Given the description of an element on the screen output the (x, y) to click on. 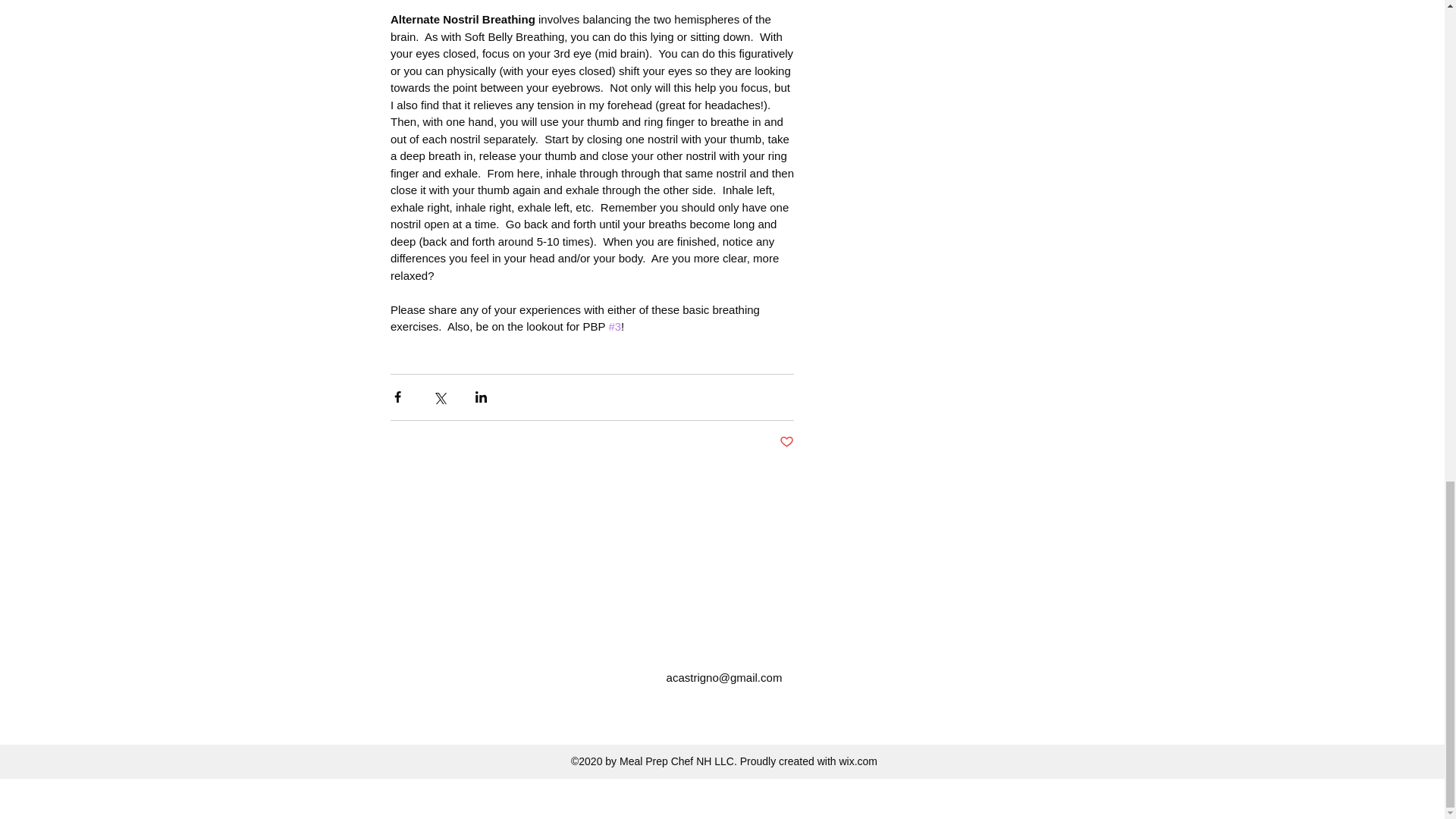
Post not marked as liked (785, 442)
